Given the description of an element on the screen output the (x, y) to click on. 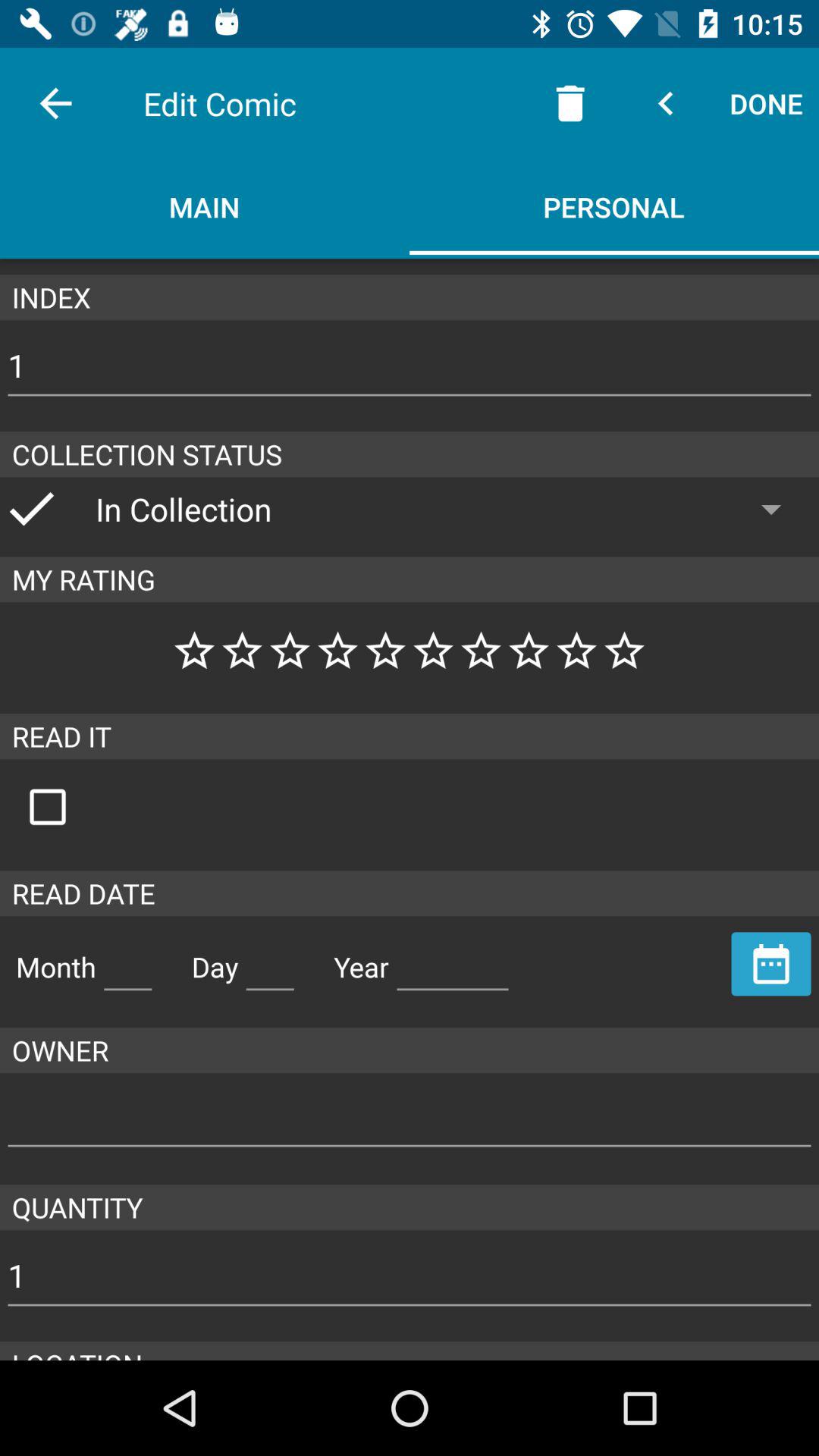
read it (63, 806)
